Given the description of an element on the screen output the (x, y) to click on. 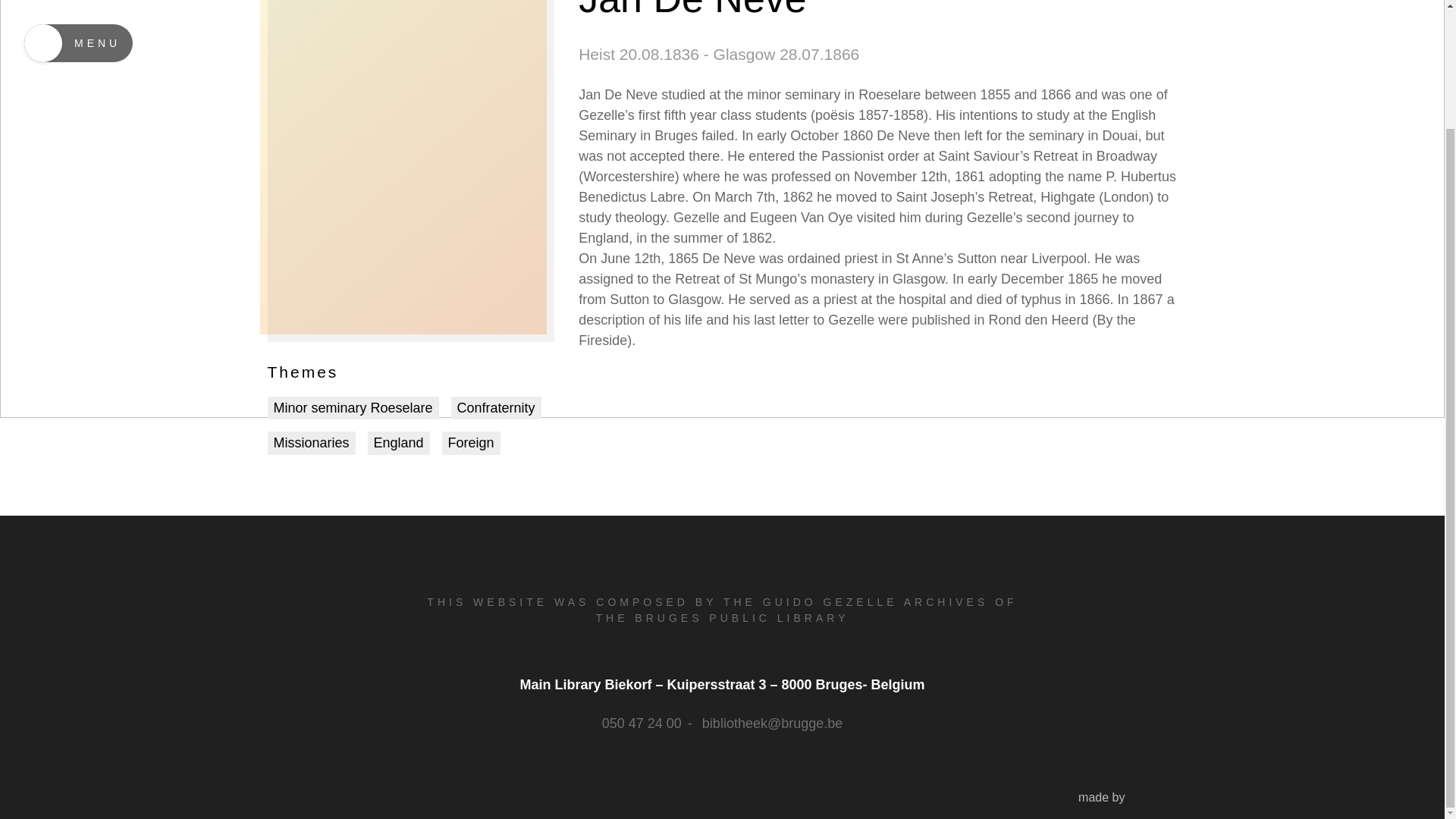
Minor seminary Roeselare (352, 408)
050 47 24 00 (641, 723)
Foreign (471, 443)
Missionaries (310, 443)
England (398, 443)
Confraternity (496, 408)
